Given the description of an element on the screen output the (x, y) to click on. 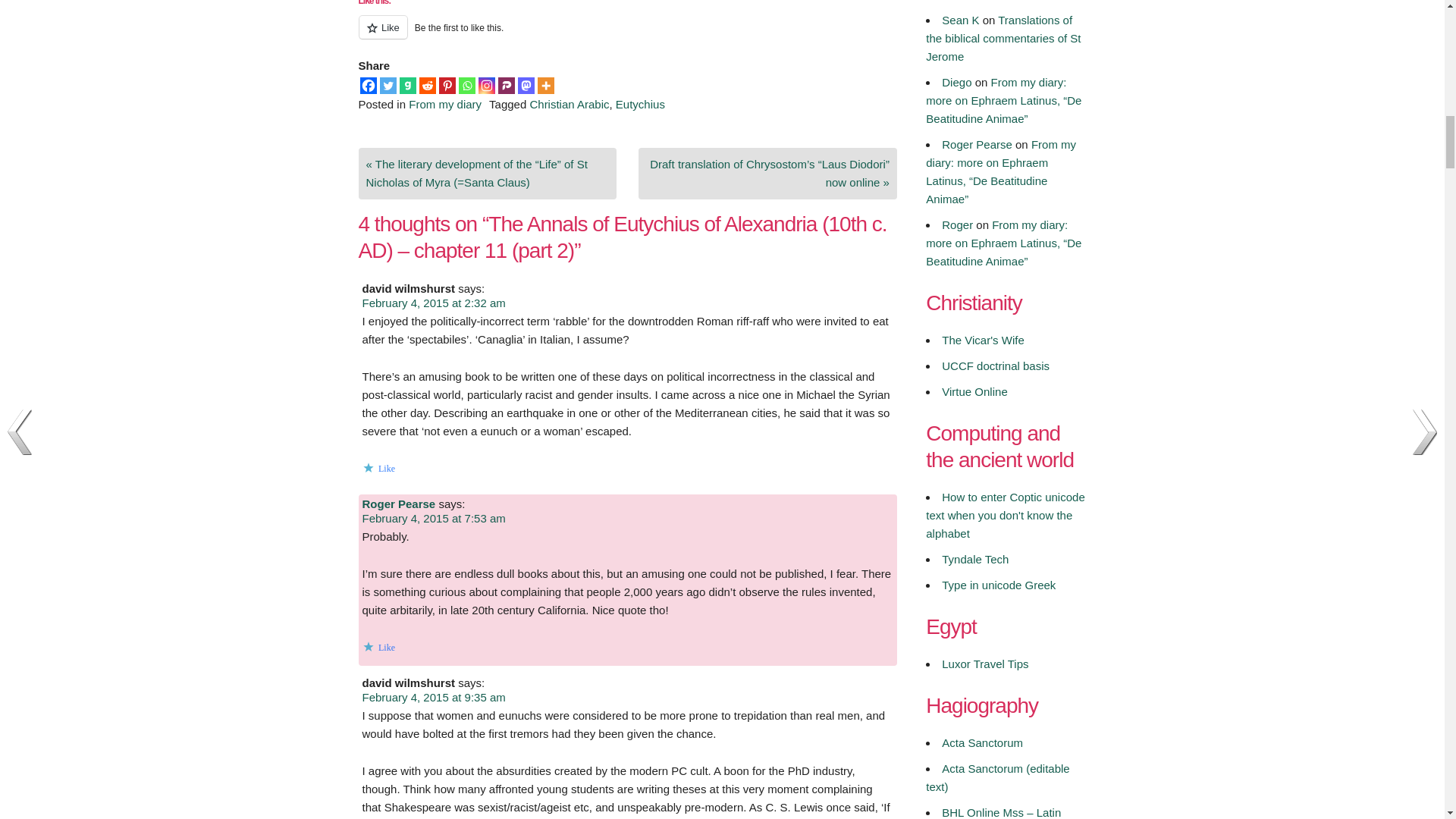
Roger Pearse (398, 503)
Mastodon (525, 85)
Whatsapp (466, 85)
From my diary (445, 103)
Eutychius (640, 103)
February 4, 2015 at 7:53 am (433, 517)
Reddit (427, 85)
Instagram (486, 85)
Like or Reblog (627, 35)
Facebook (367, 85)
Twitter (387, 85)
Parler (505, 85)
Christian Arabic (568, 103)
Gab (406, 85)
February 4, 2015 at 9:35 am (433, 697)
